Given the description of an element on the screen output the (x, y) to click on. 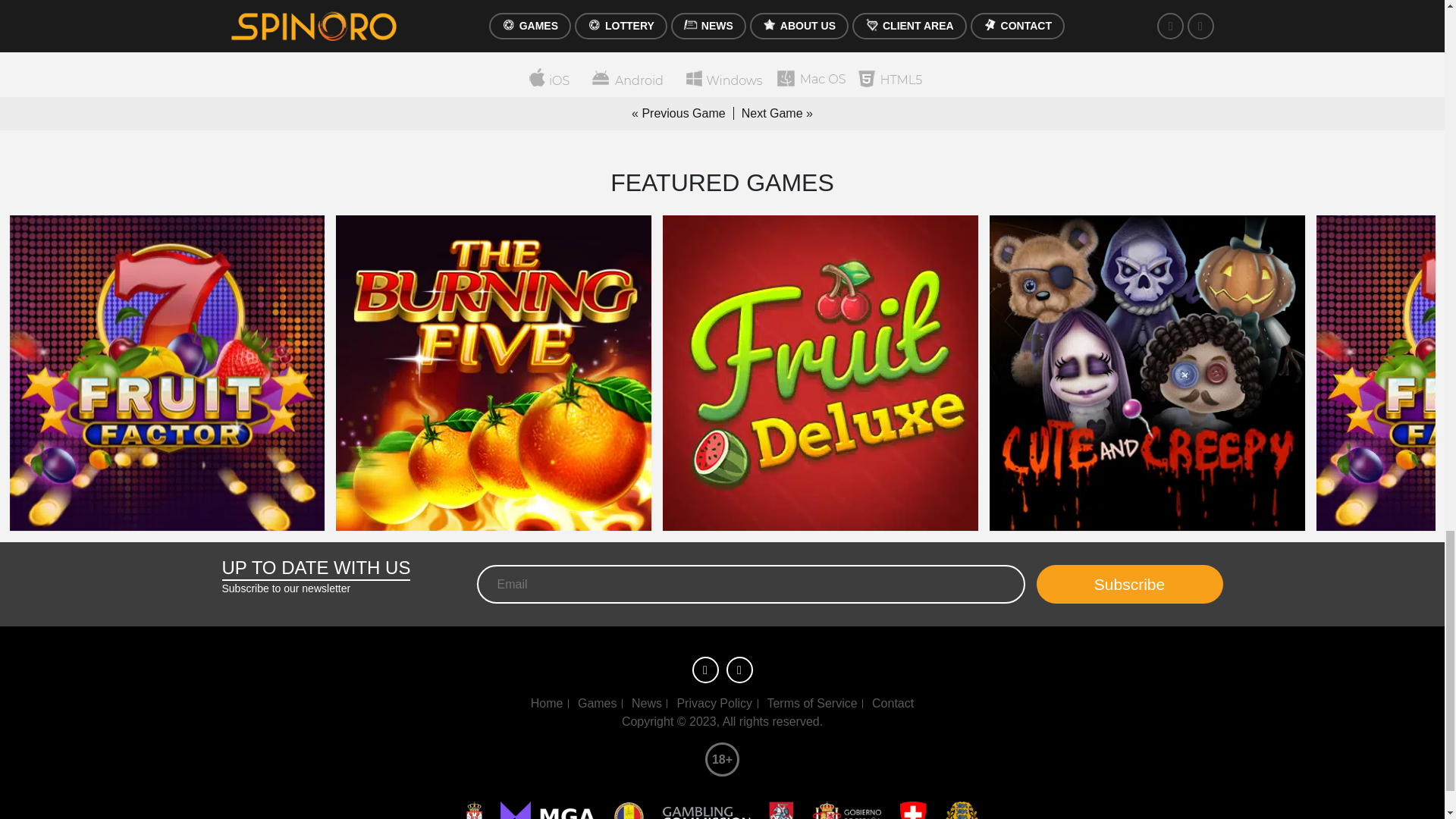
Subscribe (1129, 584)
Previous Game (687, 113)
Next Game (768, 113)
